Given the description of an element on the screen output the (x, y) to click on. 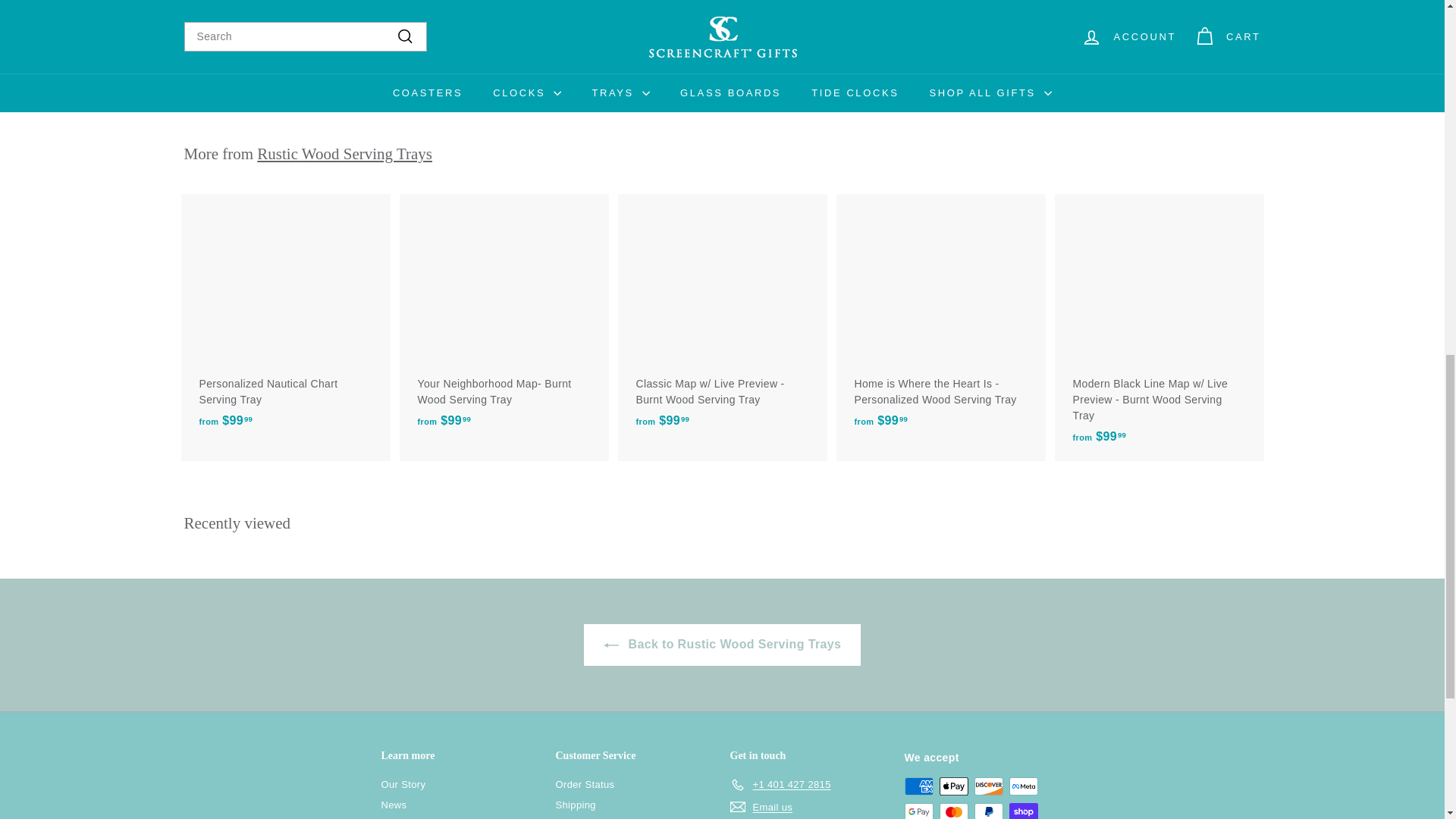
icon-left-arrow (611, 645)
Apple Pay (953, 786)
American Express (918, 786)
